Given the description of an element on the screen output the (x, y) to click on. 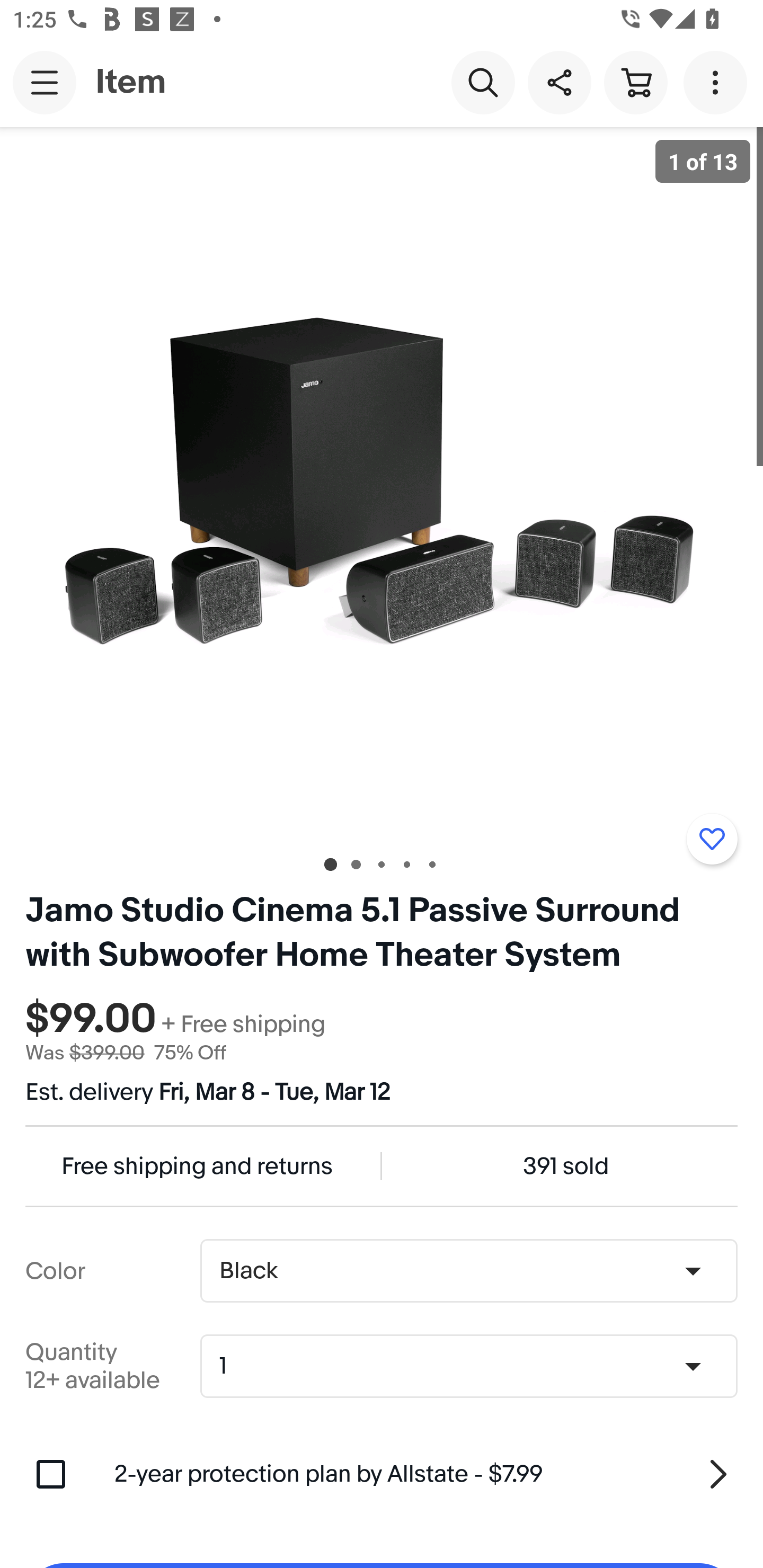
Main navigation, open (44, 82)
Search (482, 81)
Share this item (559, 81)
Cart button shopping cart (635, 81)
More options (718, 81)
Item image 1 of 13 (381, 482)
Add to watchlist (711, 838)
Color,Black Black (468, 1270)
Quantity,1,12+ available 1 (474, 1365)
2-year protection plan by Allstate - $7.99 (425, 1473)
